Given the description of an element on the screen output the (x, y) to click on. 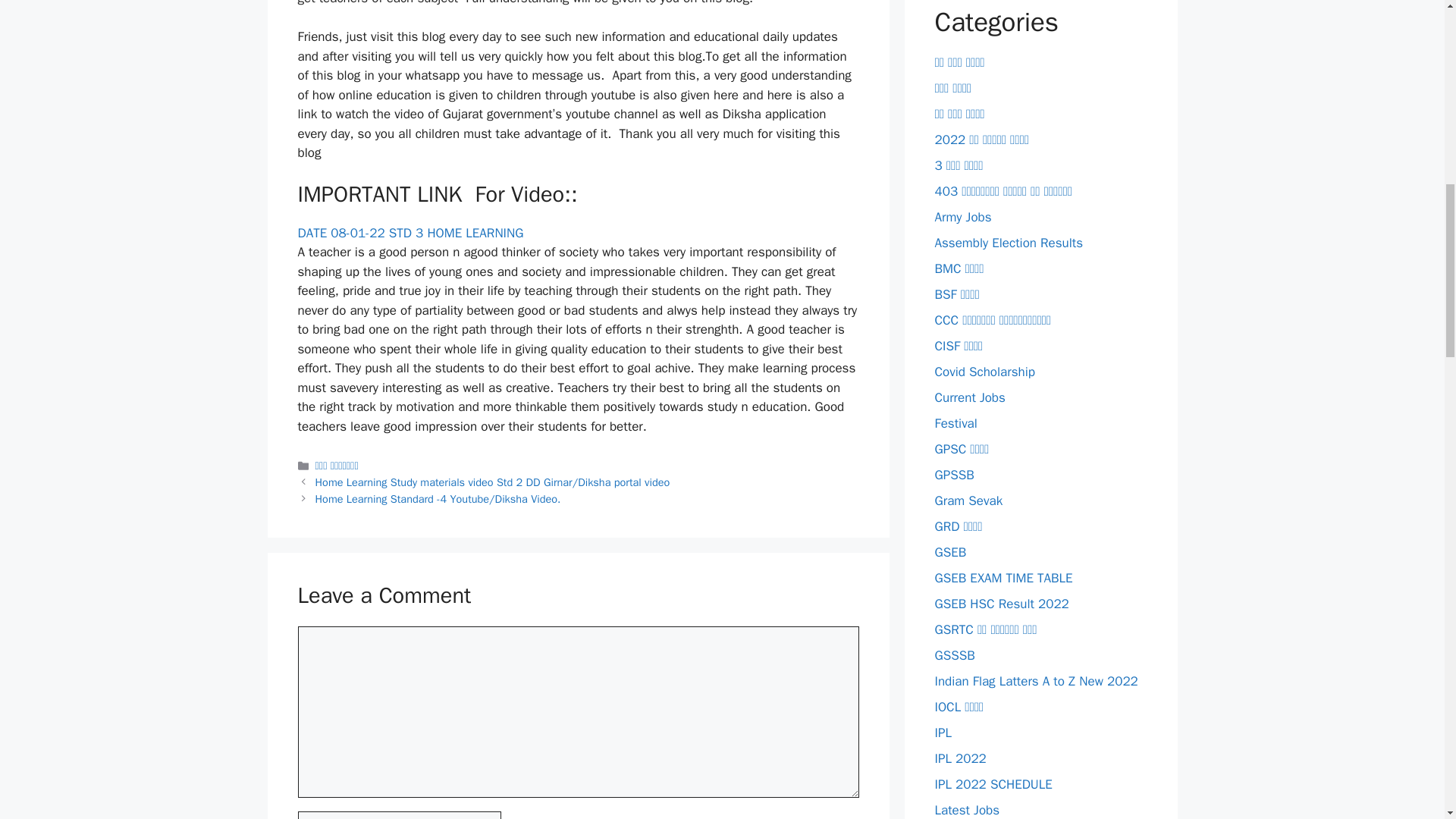
Assembly Election Results (1008, 242)
DATE 08-01-22 STD 3 HOME LEARNING (409, 232)
Current Jobs (969, 397)
Covid Scholarship (983, 371)
Army Jobs (962, 217)
Festival (955, 423)
